Given the description of an element on the screen output the (x, y) to click on. 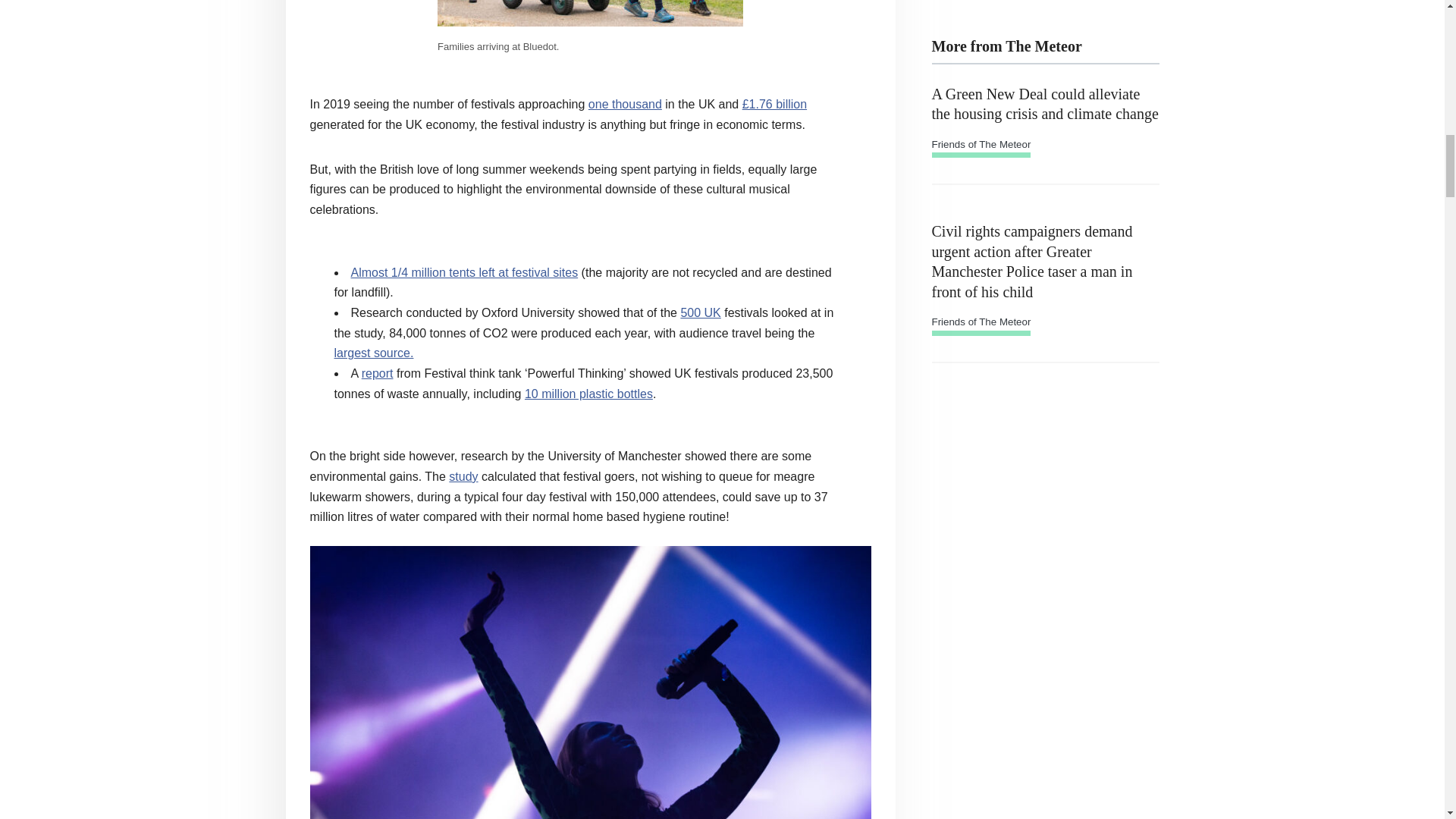
one thousand (625, 103)
largest source. (373, 352)
report (377, 373)
500 UK (699, 312)
10 million plastic bottles (588, 393)
